Given the description of an element on the screen output the (x, y) to click on. 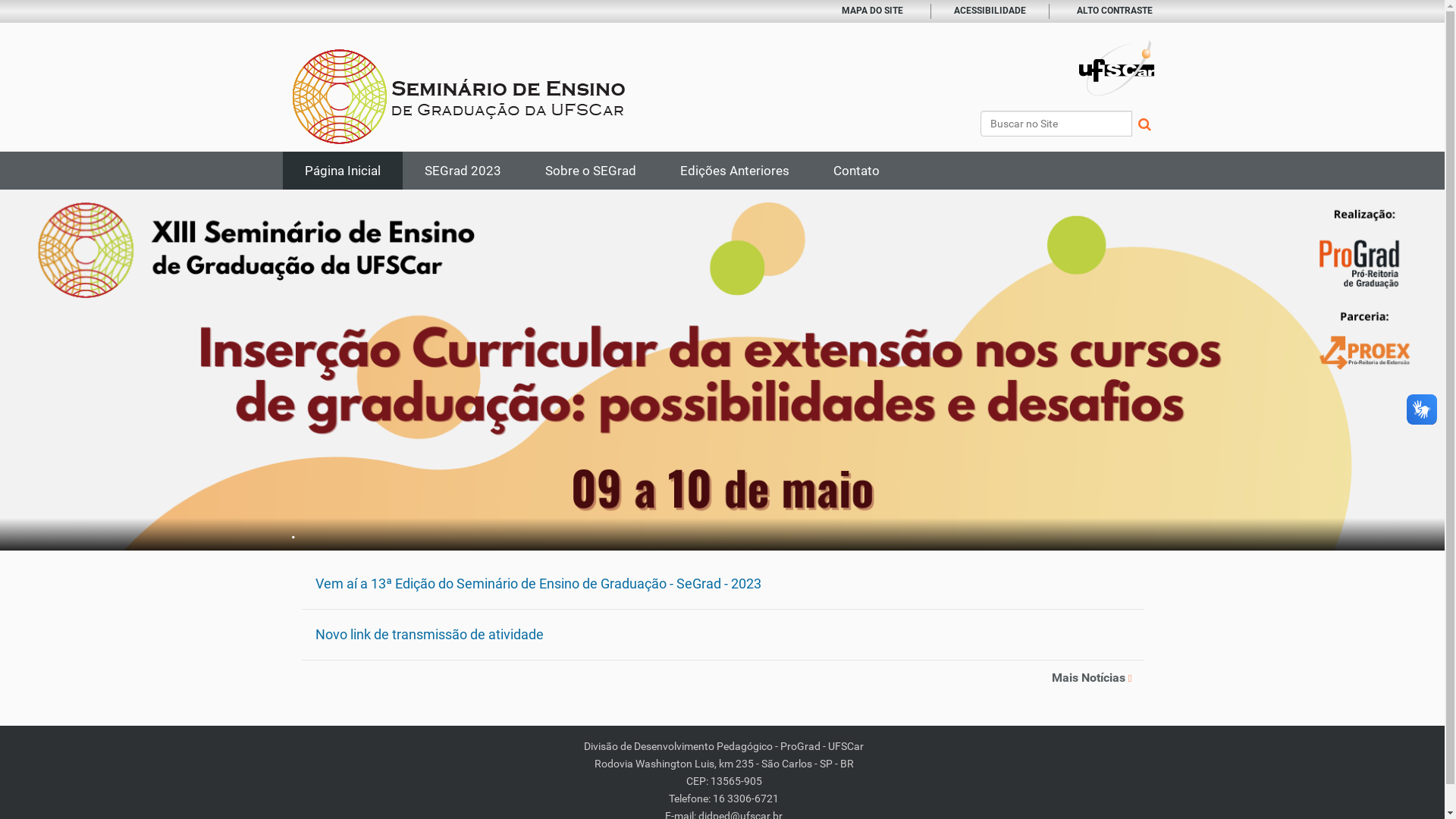
MAPA DO SITE Element type: text (872, 10)
ALTO CONTRASTE Element type: text (1114, 10)
SEGrad 2023 Element type: text (461, 170)
Contato Element type: text (856, 170)
Sobre o SEGrad Element type: text (590, 170)
Portal UFSCar Element type: hover (1116, 66)
ACESSIBILIDADE Element type: text (989, 10)
Buscar no Site Element type: hover (1055, 123)
SeGrad Element type: hover (459, 96)
